Given the description of an element on the screen output the (x, y) to click on. 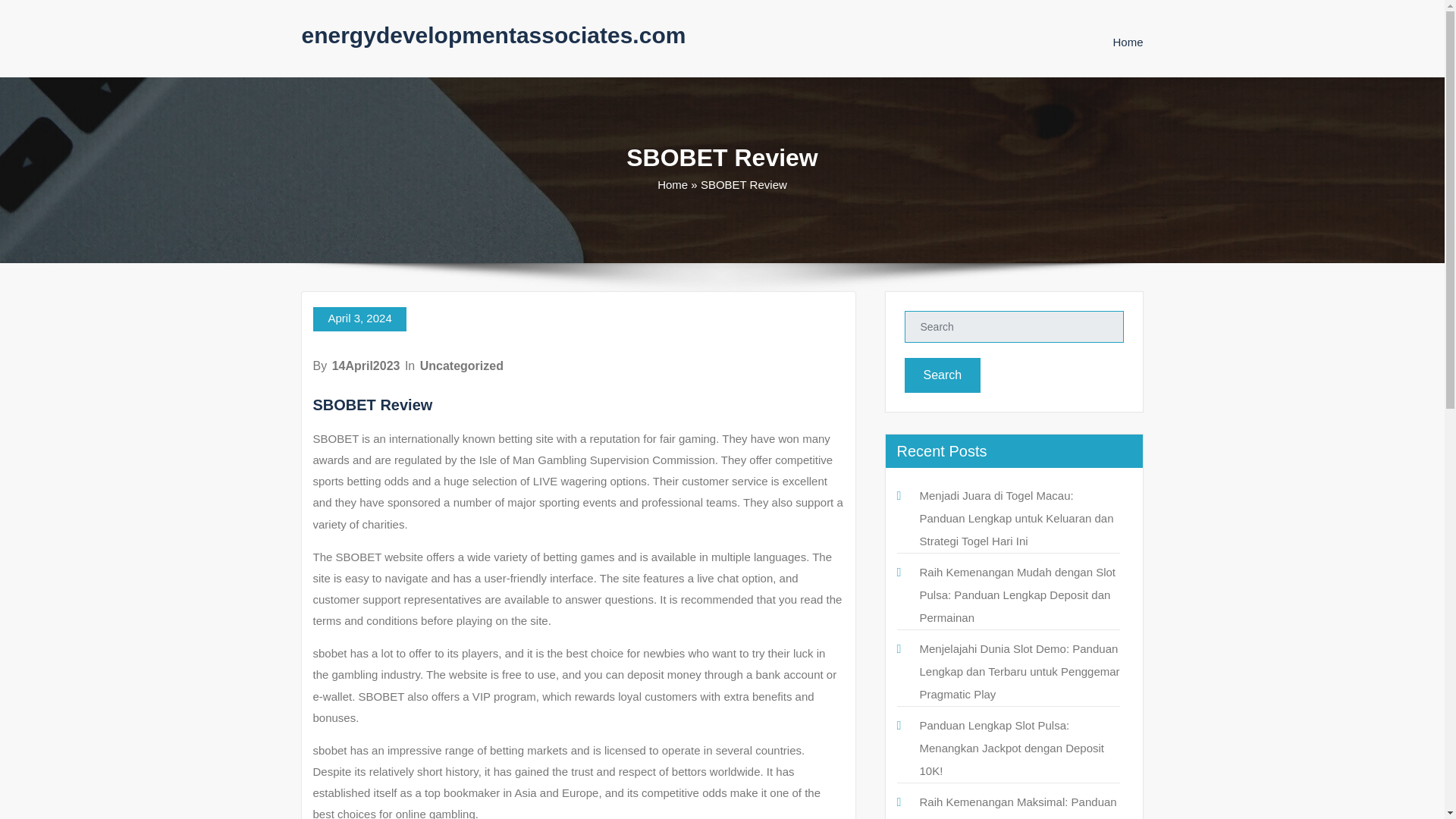
Home (1127, 41)
Home (1127, 41)
Uncategorized (462, 365)
Home (672, 184)
energydevelopmentassociates.com (493, 34)
14April2023 (365, 365)
Search (941, 375)
April 3, 2024 (359, 319)
